Given the description of an element on the screen output the (x, y) to click on. 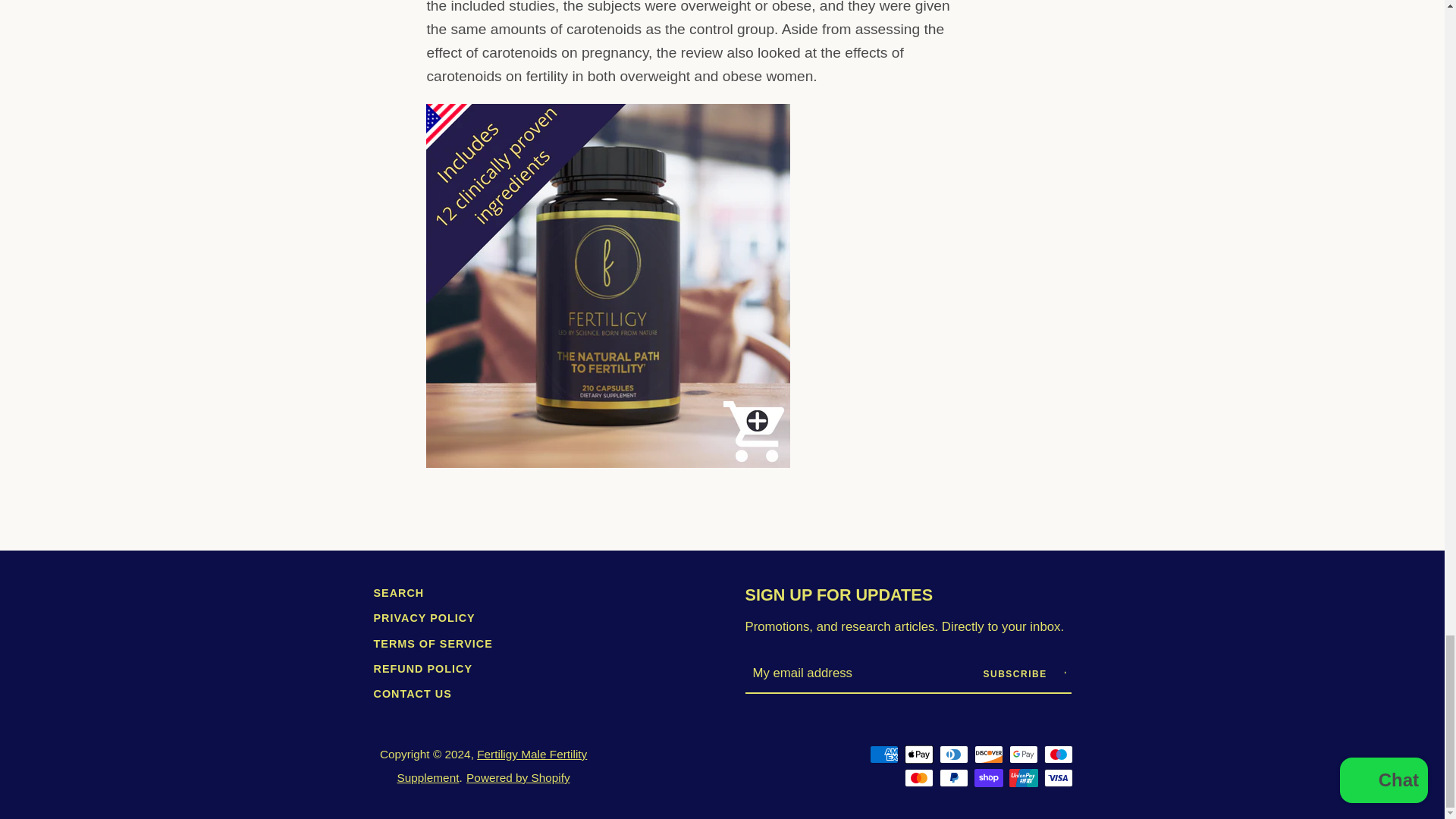
Apple Pay (918, 754)
Shop Pay (988, 778)
Discover (988, 754)
Google Pay (1022, 754)
PayPal (953, 778)
fertiligy male fertility supplement (608, 462)
Visa (1057, 778)
SUBSCRIBE (1023, 673)
Diners Club (953, 754)
PRIVACY POLICY (423, 617)
